Given the description of an element on the screen output the (x, y) to click on. 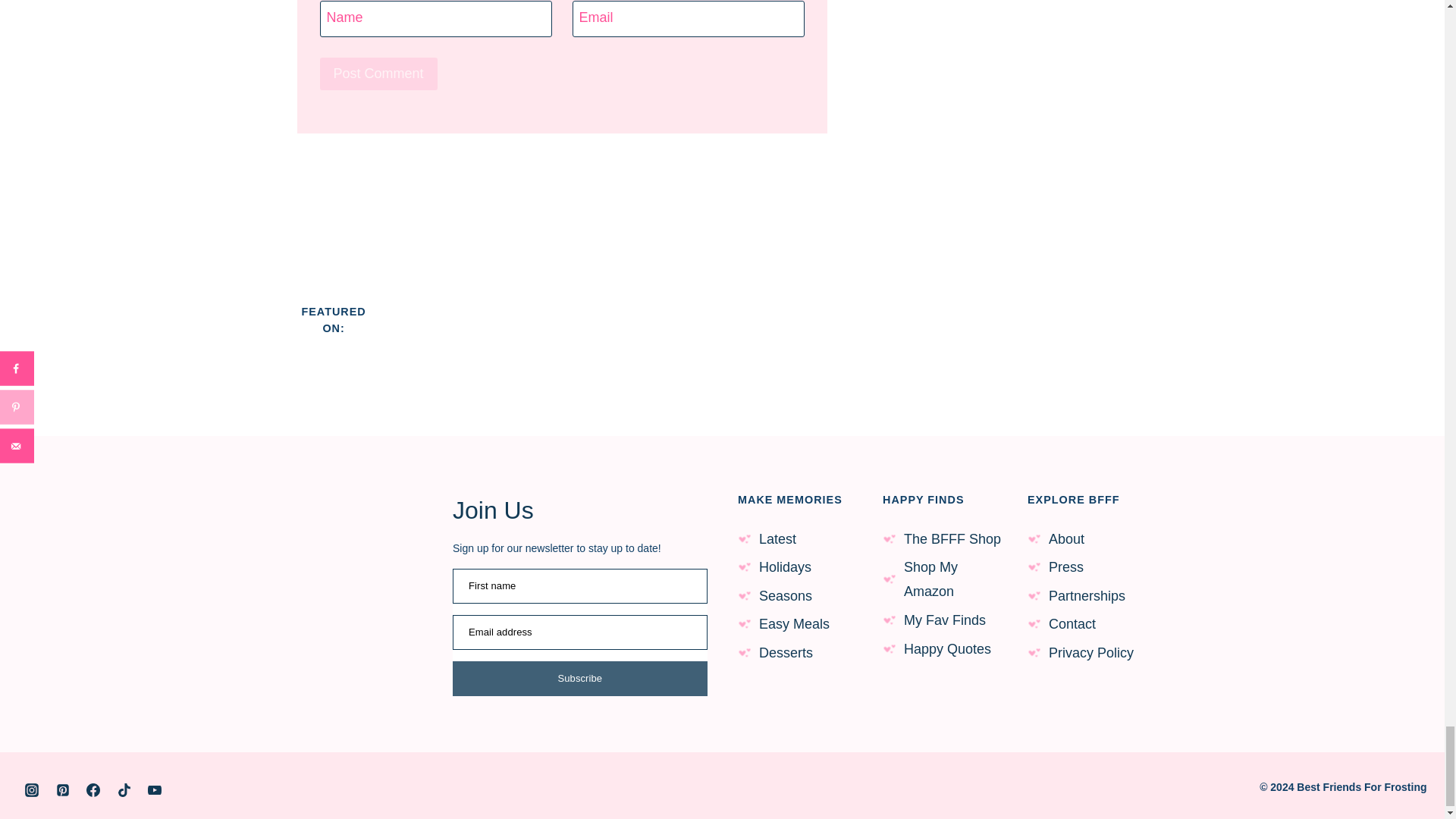
Post Comment (379, 73)
